Given the description of an element on the screen output the (x, y) to click on. 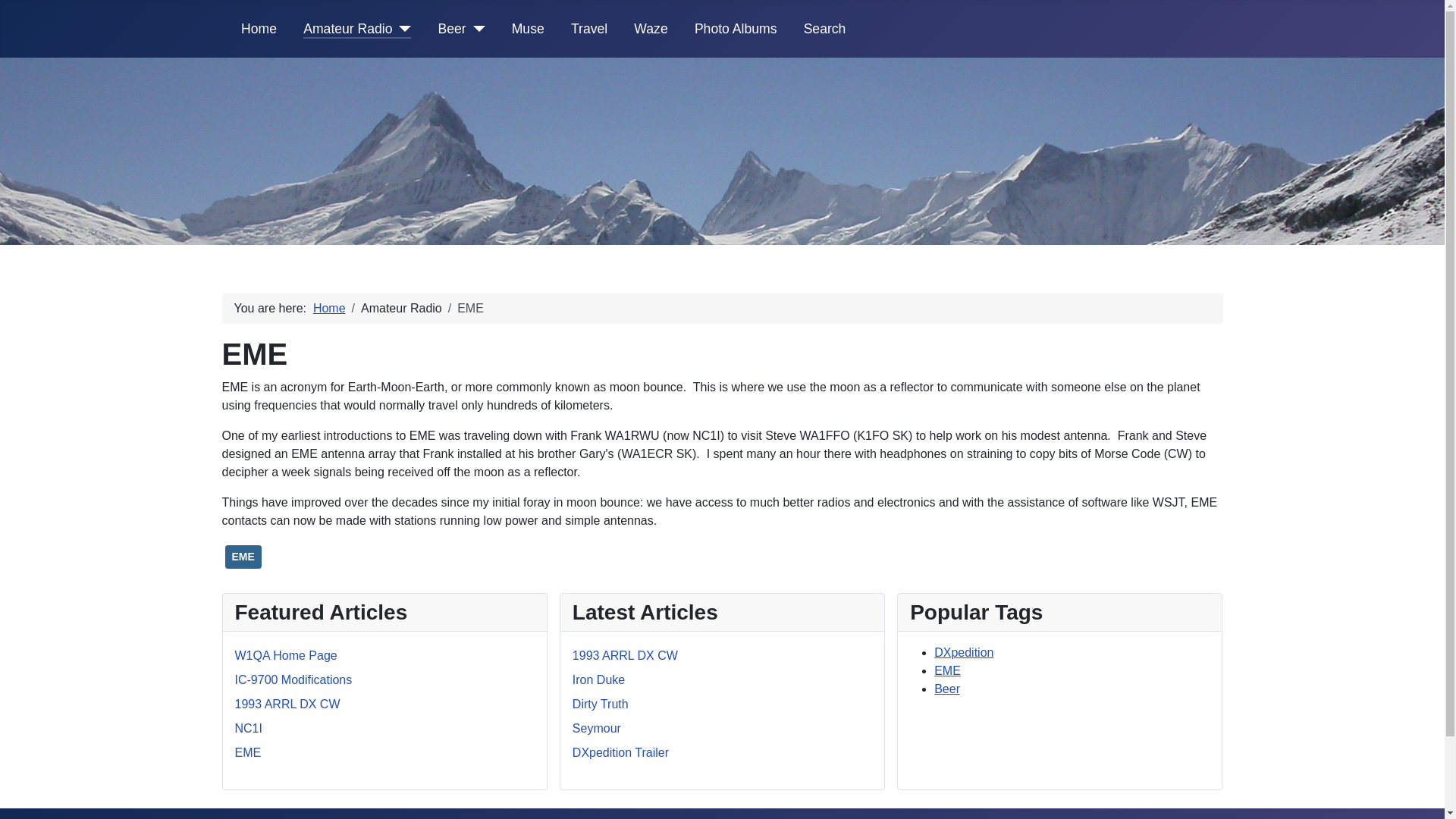
Waze (649, 28)
Home (258, 28)
NC1I (248, 727)
DXpedition (963, 652)
Muse (528, 28)
EME (947, 670)
Iron Duke (598, 679)
Amateur Radio (356, 28)
Search (824, 28)
Home (329, 308)
